Given the description of an element on the screen output the (x, y) to click on. 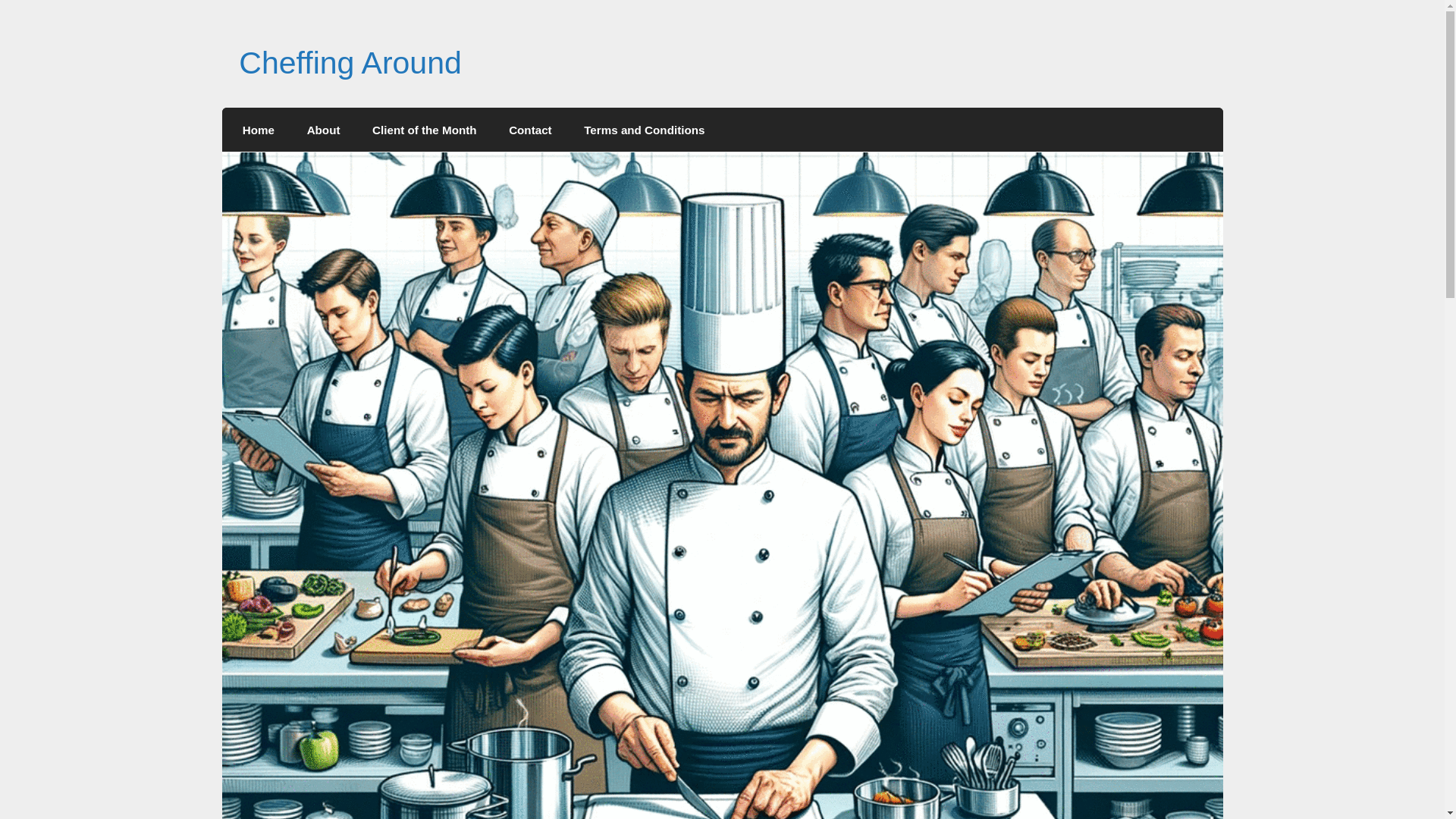
Client of the Month (424, 129)
Terms and Conditions (643, 129)
Cheffing Around (349, 62)
Contact (530, 129)
Home (259, 129)
About (322, 129)
